Given the description of an element on the screen output the (x, y) to click on. 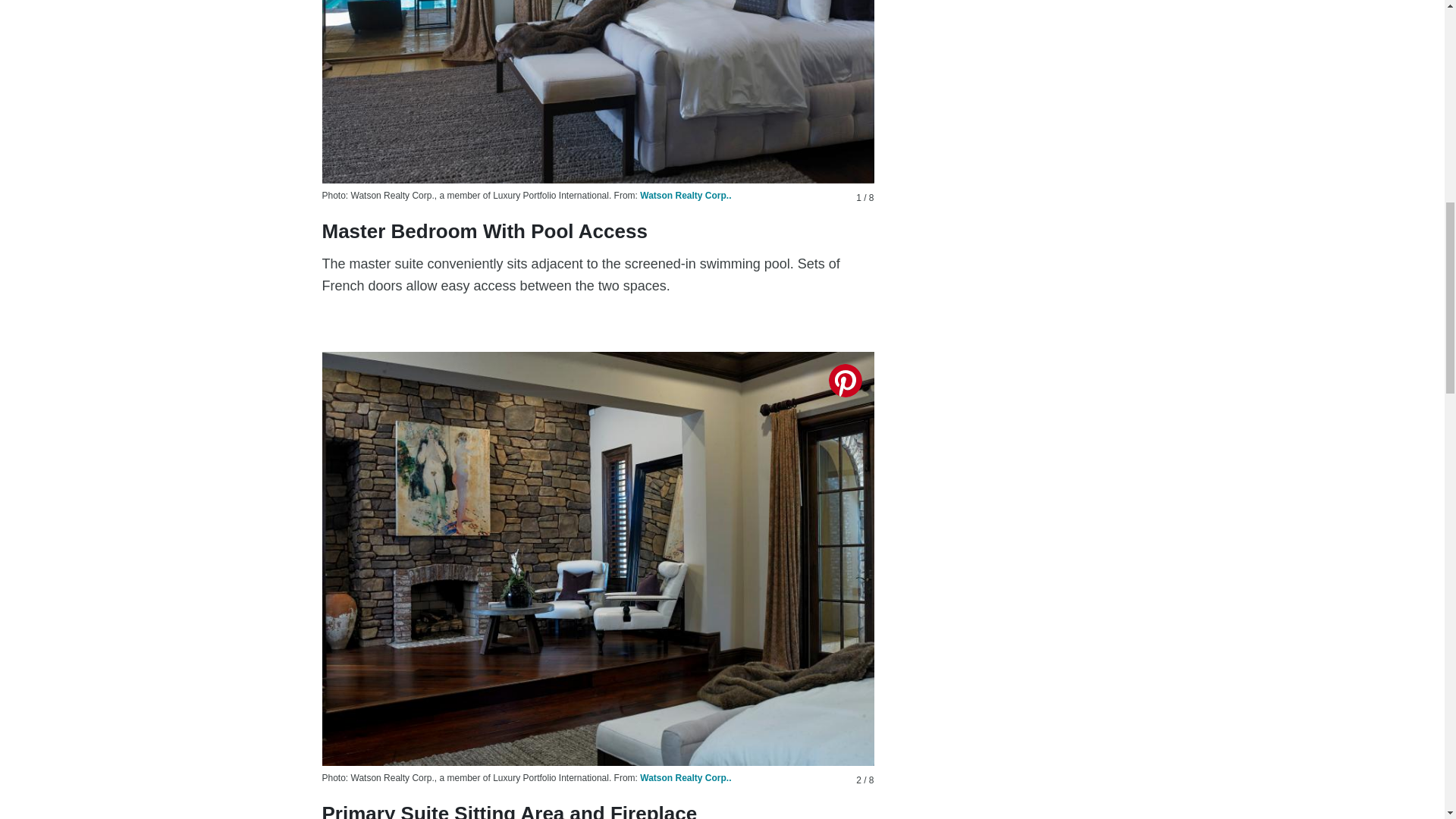
Master Bedroom With Pool Access (597, 91)
